Given the description of an element on the screen output the (x, y) to click on. 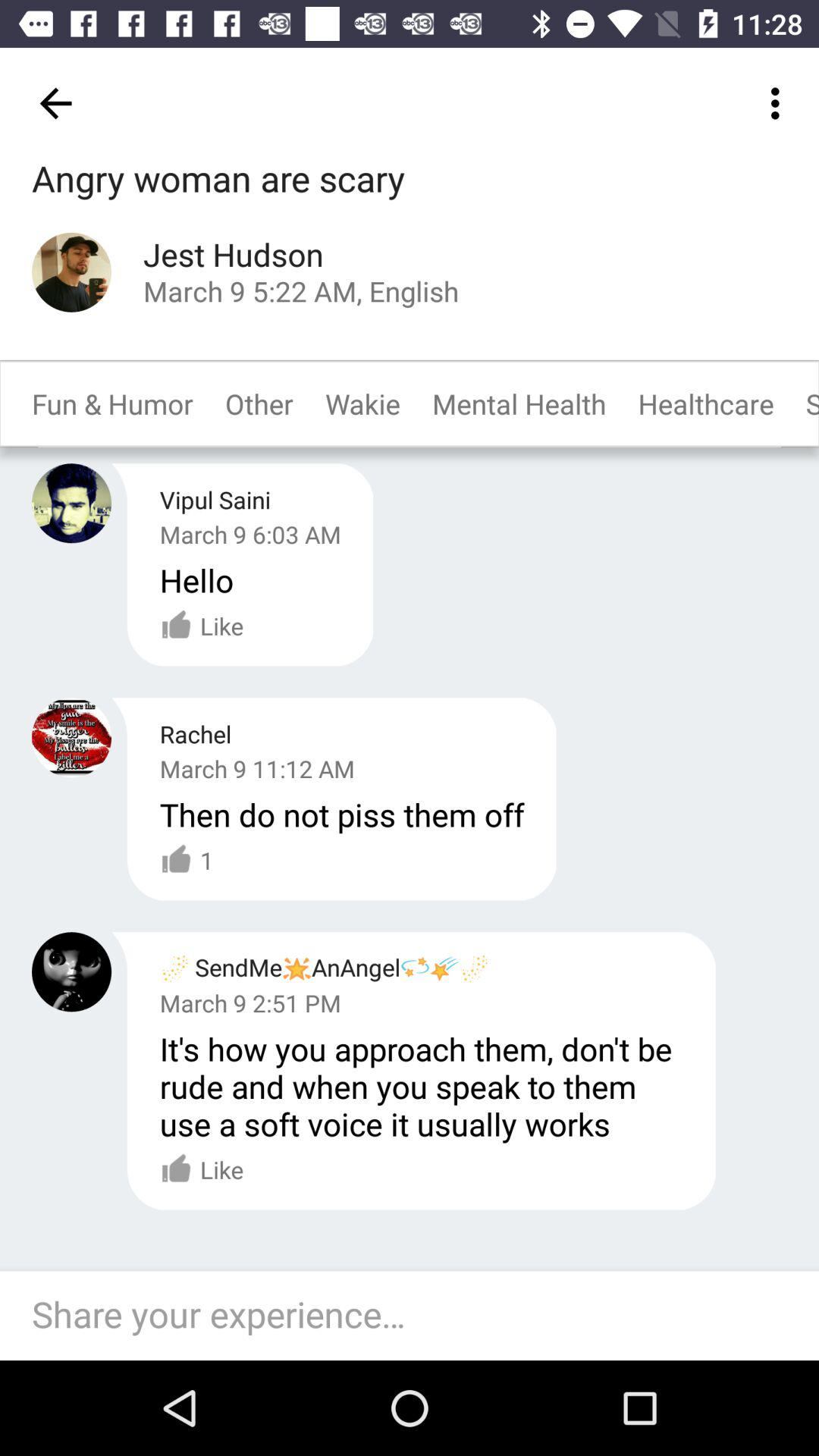
launch angry woman are (217, 179)
